Given the description of an element on the screen output the (x, y) to click on. 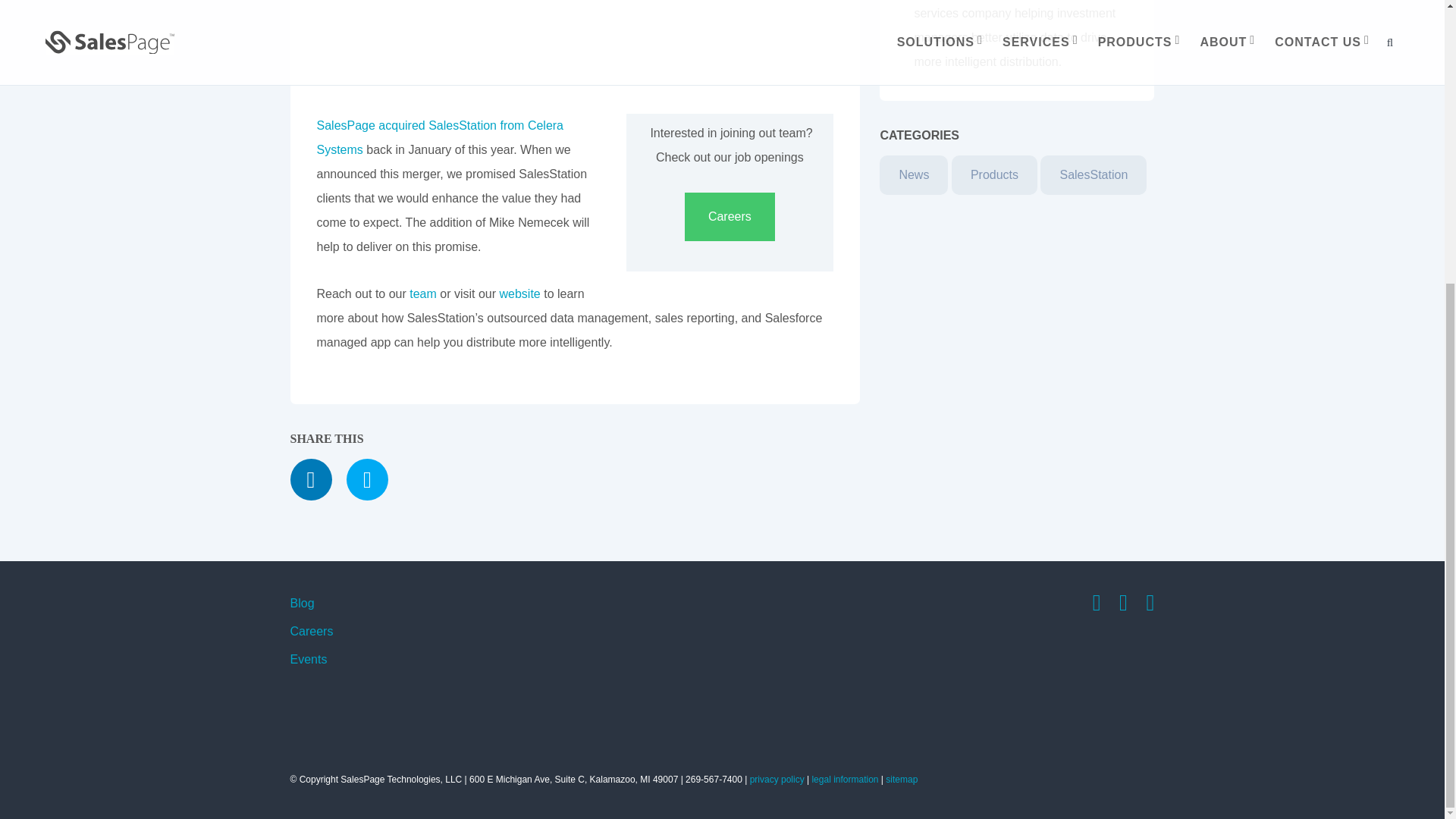
SalesPage acquired SalesStation from Celera Systems (440, 137)
team (422, 293)
Value culture continues with new SalesStation team member (536, 46)
Careers (729, 216)
website (519, 293)
Products (994, 174)
SalesStation (1094, 174)
News (913, 174)
